Given the description of an element on the screen output the (x, y) to click on. 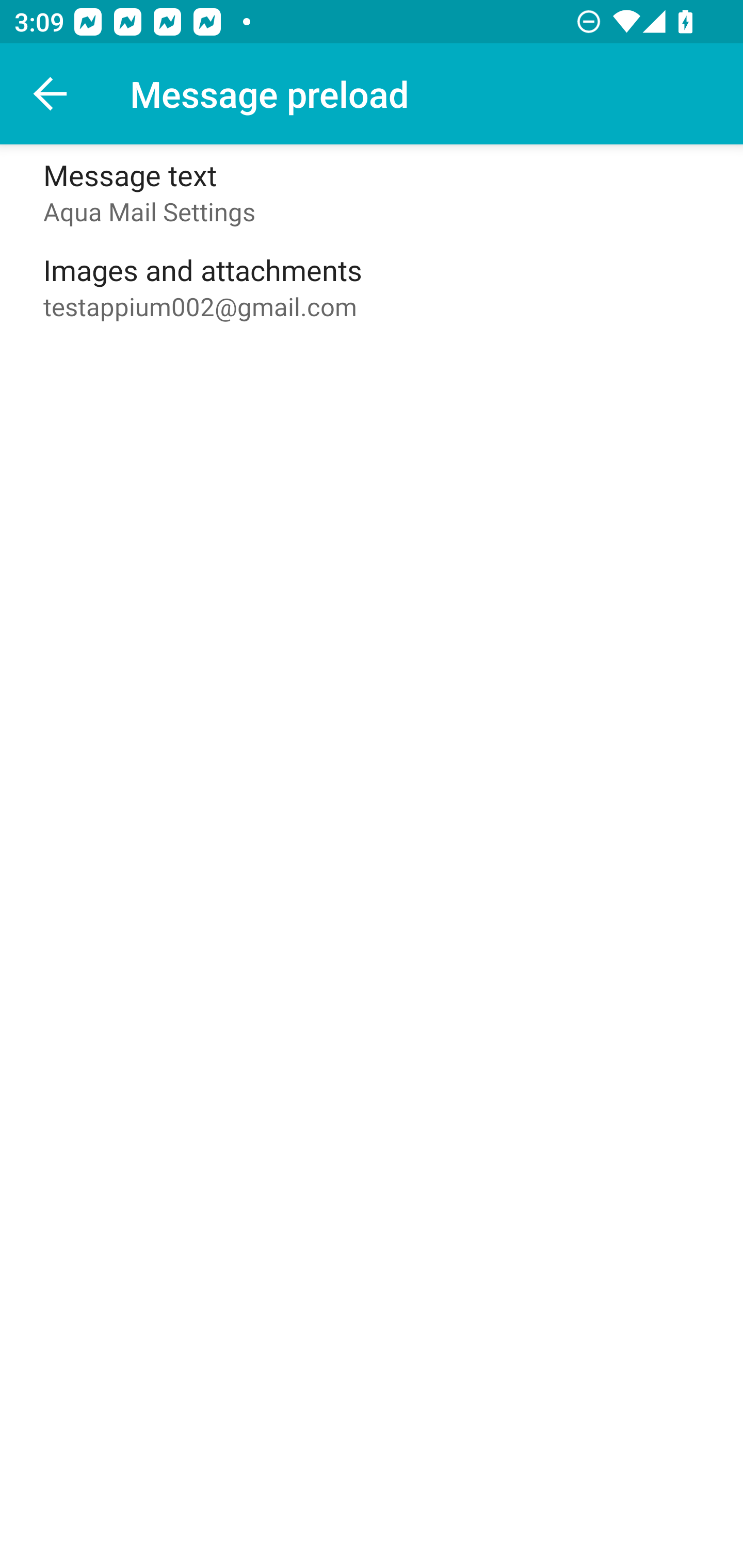
Navigate up (50, 93)
Message text Aqua Mail Settings (371, 191)
Images and attachments testappium002@gmail.com (371, 286)
